Given the description of an element on the screen output the (x, y) to click on. 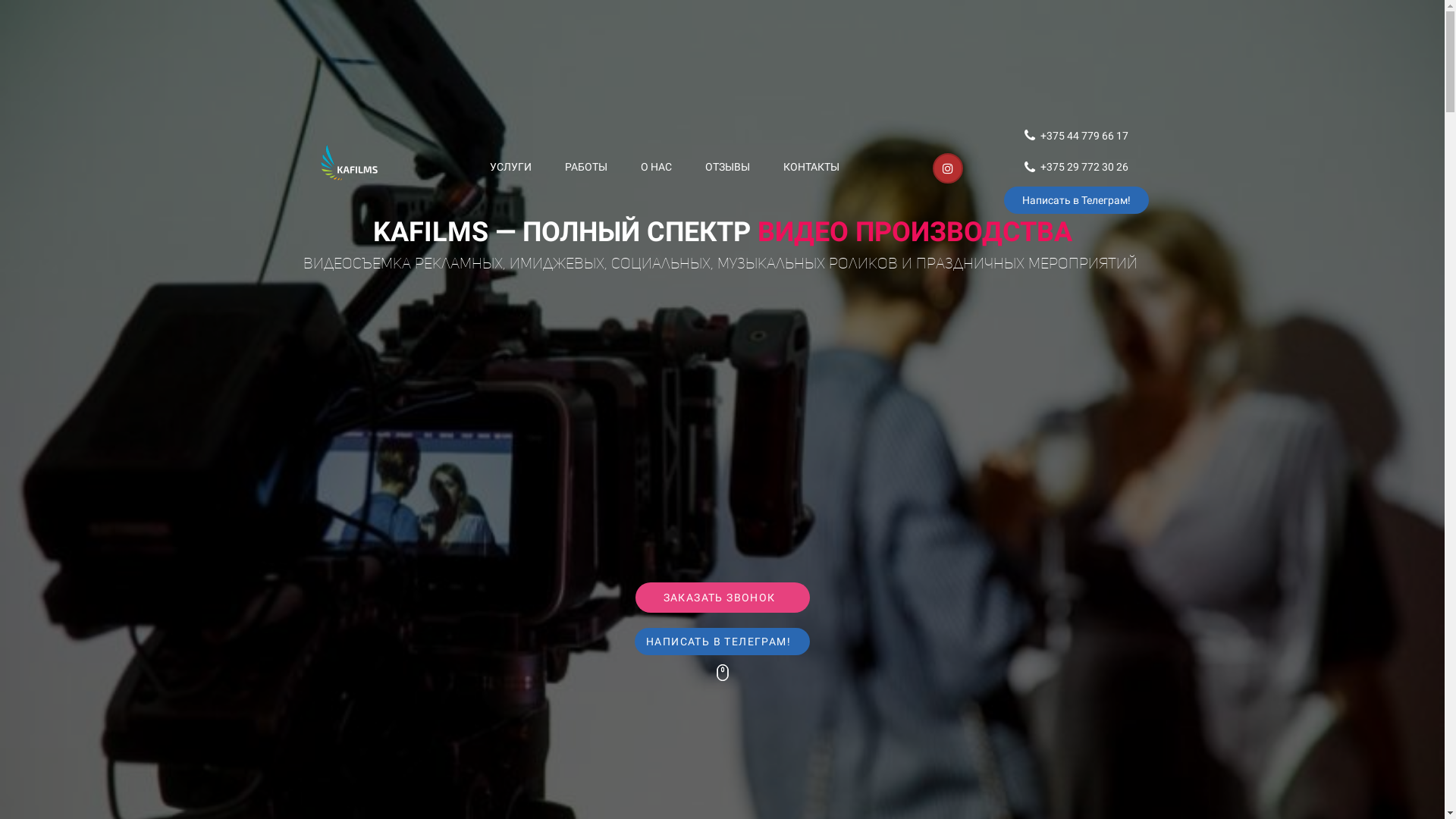
+375 29 772 30 26 Element type: text (1076, 166)
+375 44 779 66 17 Element type: text (1076, 135)
